Given the description of an element on the screen output the (x, y) to click on. 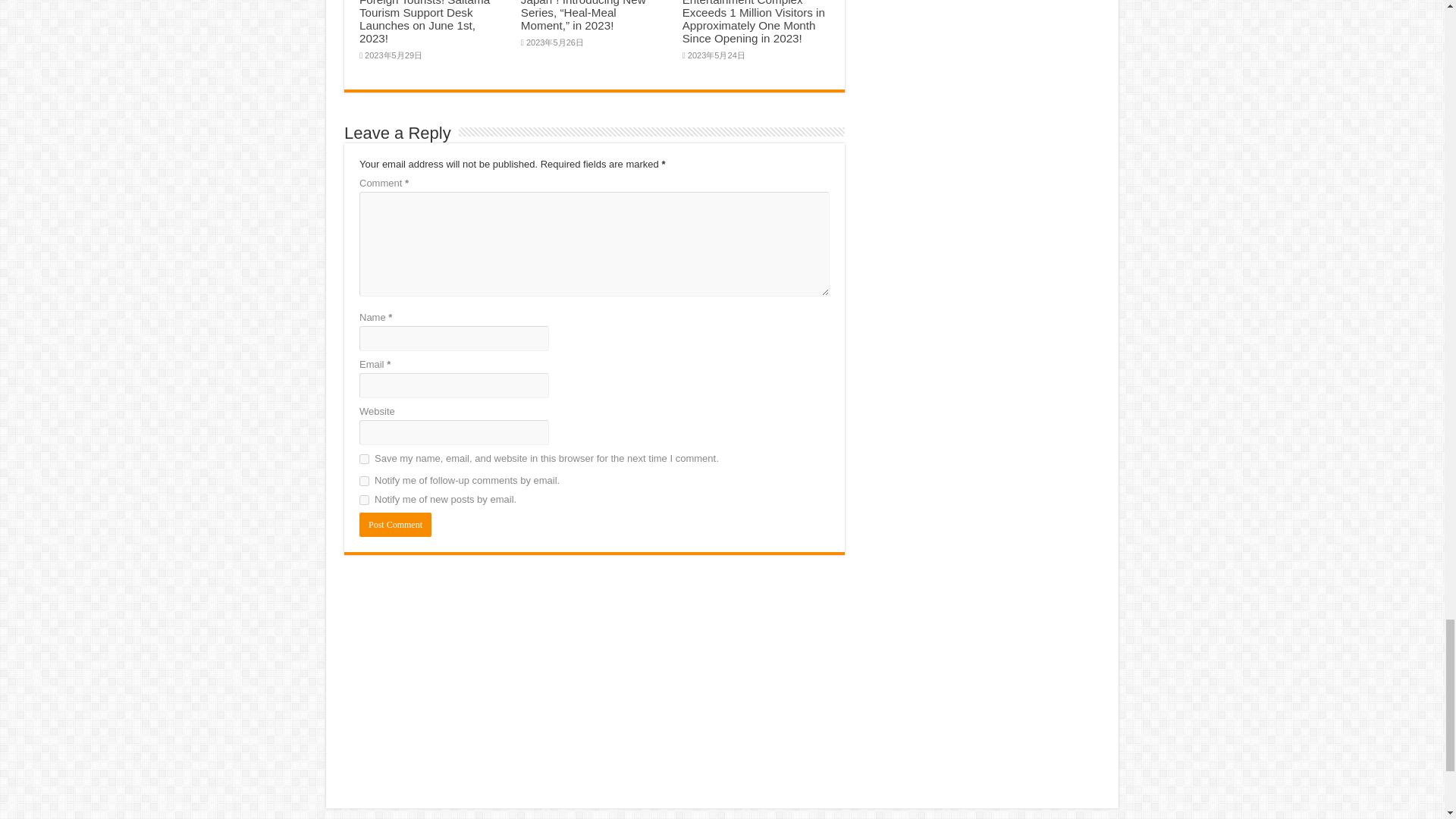
subscribe (364, 480)
Post Comment (394, 524)
yes (364, 459)
subscribe (364, 500)
